Given the description of an element on the screen output the (x, y) to click on. 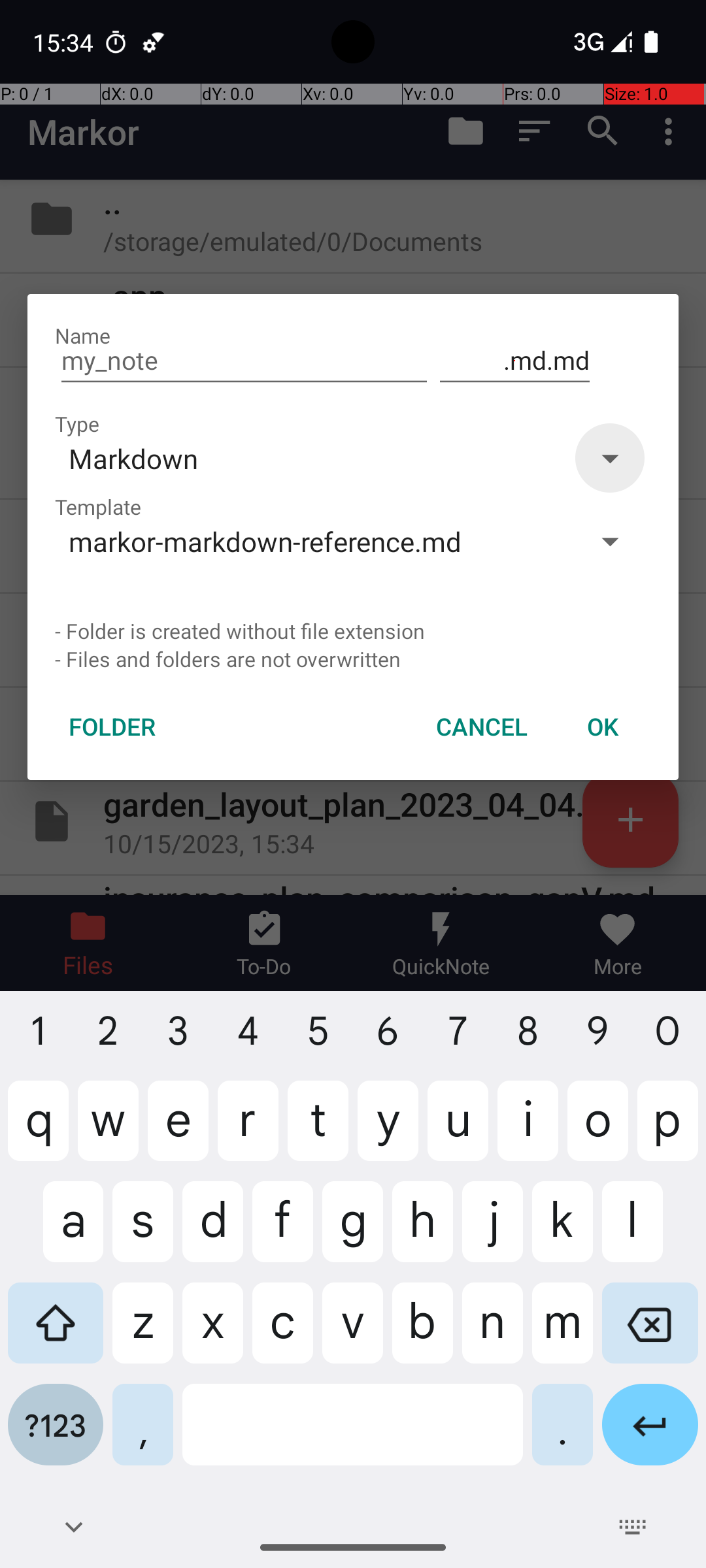
.md.md Element type: android.widget.EditText (514, 360)
markor-markdown-reference.md Element type: android.widget.TextView (311, 540)
